Given the description of an element on the screen output the (x, y) to click on. 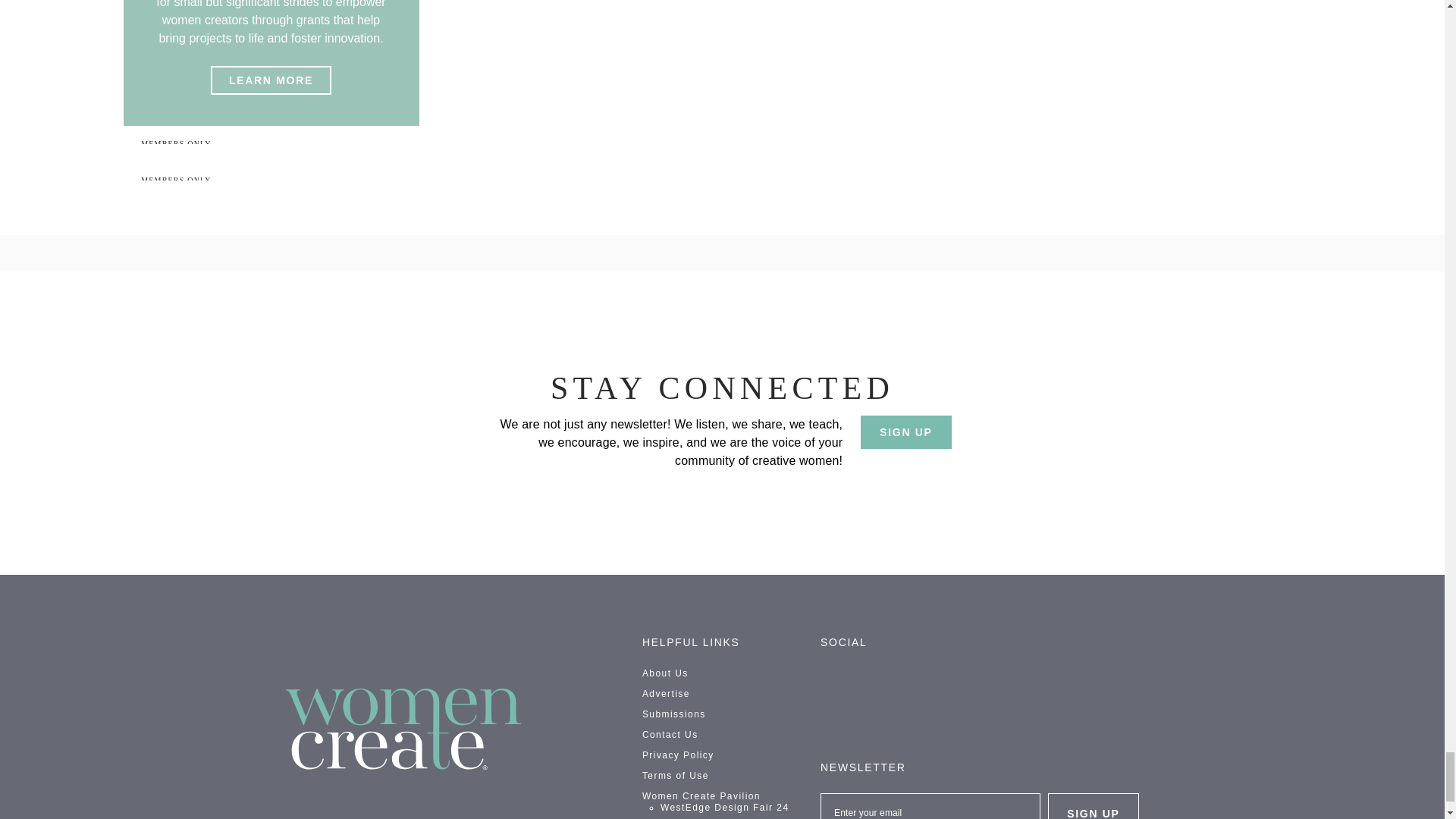
Sign Up (1093, 806)
Sign Up (905, 431)
Women Create (403, 729)
